Given the description of an element on the screen output the (x, y) to click on. 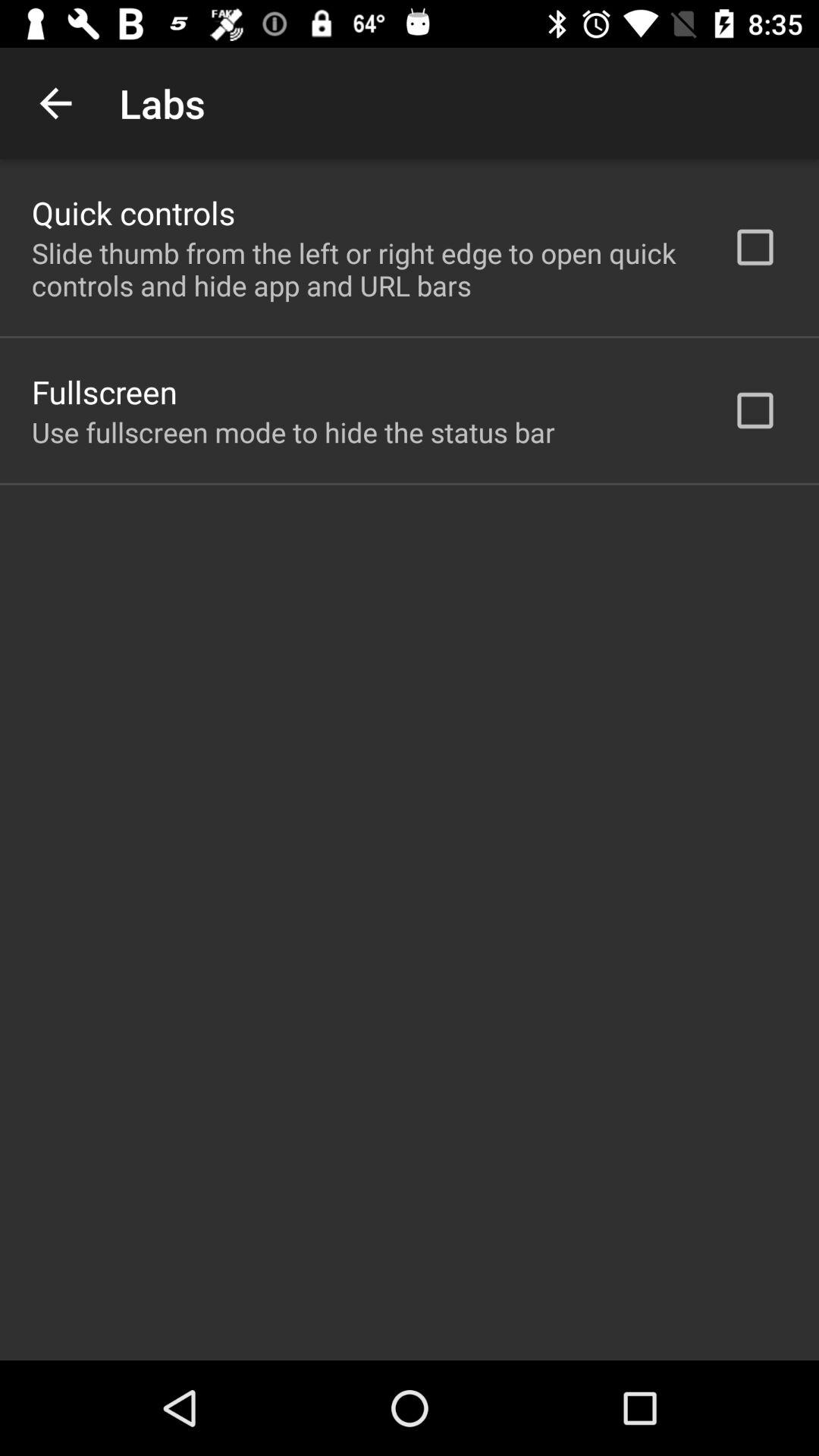
turn off the icon below quick controls (361, 269)
